Given the description of an element on the screen output the (x, y) to click on. 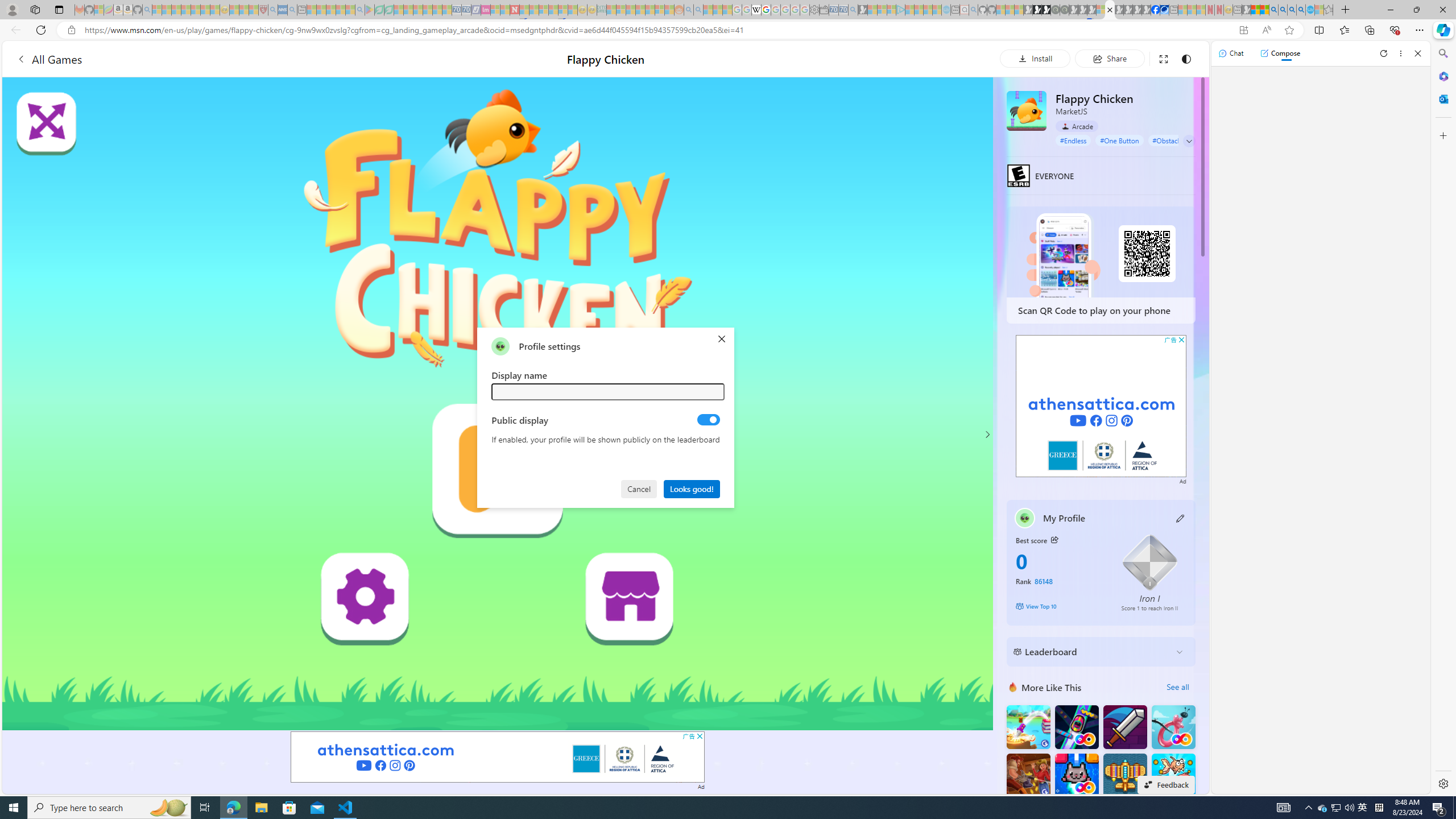
#Endless (1073, 140)
AirNow.gov (1163, 9)
AutomationID: cbb (1181, 339)
Advertisement (1101, 405)
Terms of Use Agreement - Sleeping (378, 9)
Target page - Wikipedia (755, 9)
